Given the description of an element on the screen output the (x, y) to click on. 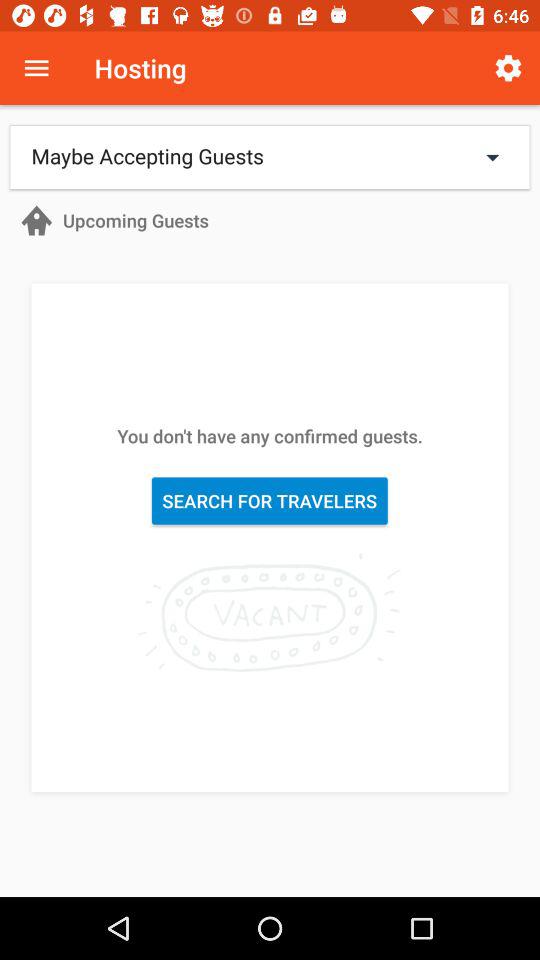
turn off the item next to the hosting (508, 67)
